Given the description of an element on the screen output the (x, y) to click on. 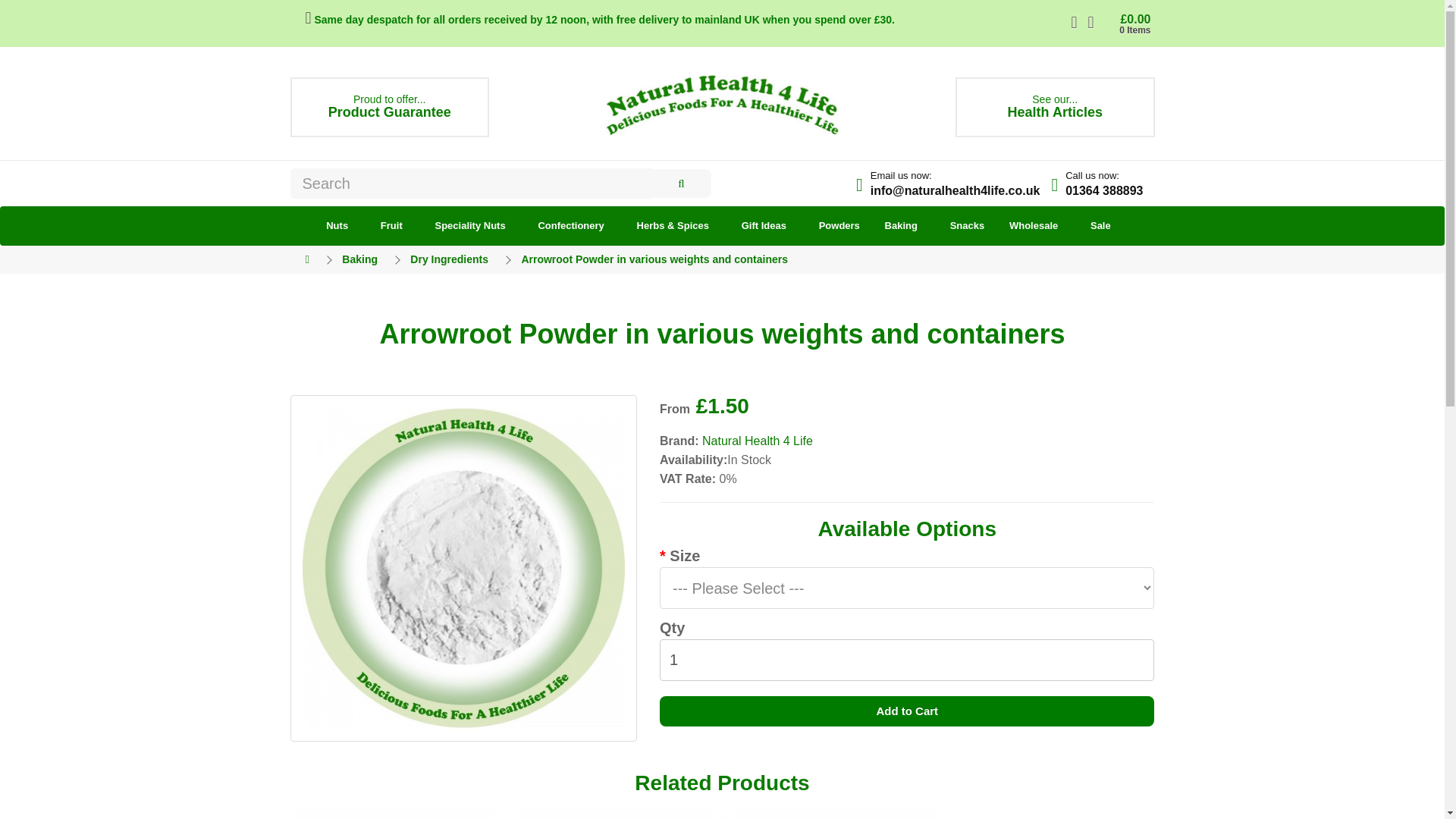
Email Us (955, 190)
01364 388893 (1103, 190)
Search Our Website (680, 183)
Arrowroot Powder in various weights and containers (462, 568)
Speciality Nuts (469, 225)
Nuts (336, 225)
Confectionery (1054, 106)
1 (569, 225)
Call Us Today (906, 659)
Natural Health 4 Life (389, 106)
Fruit (1103, 190)
Arrowroot Powder in various weights and containers (721, 102)
